Given the description of an element on the screen output the (x, y) to click on. 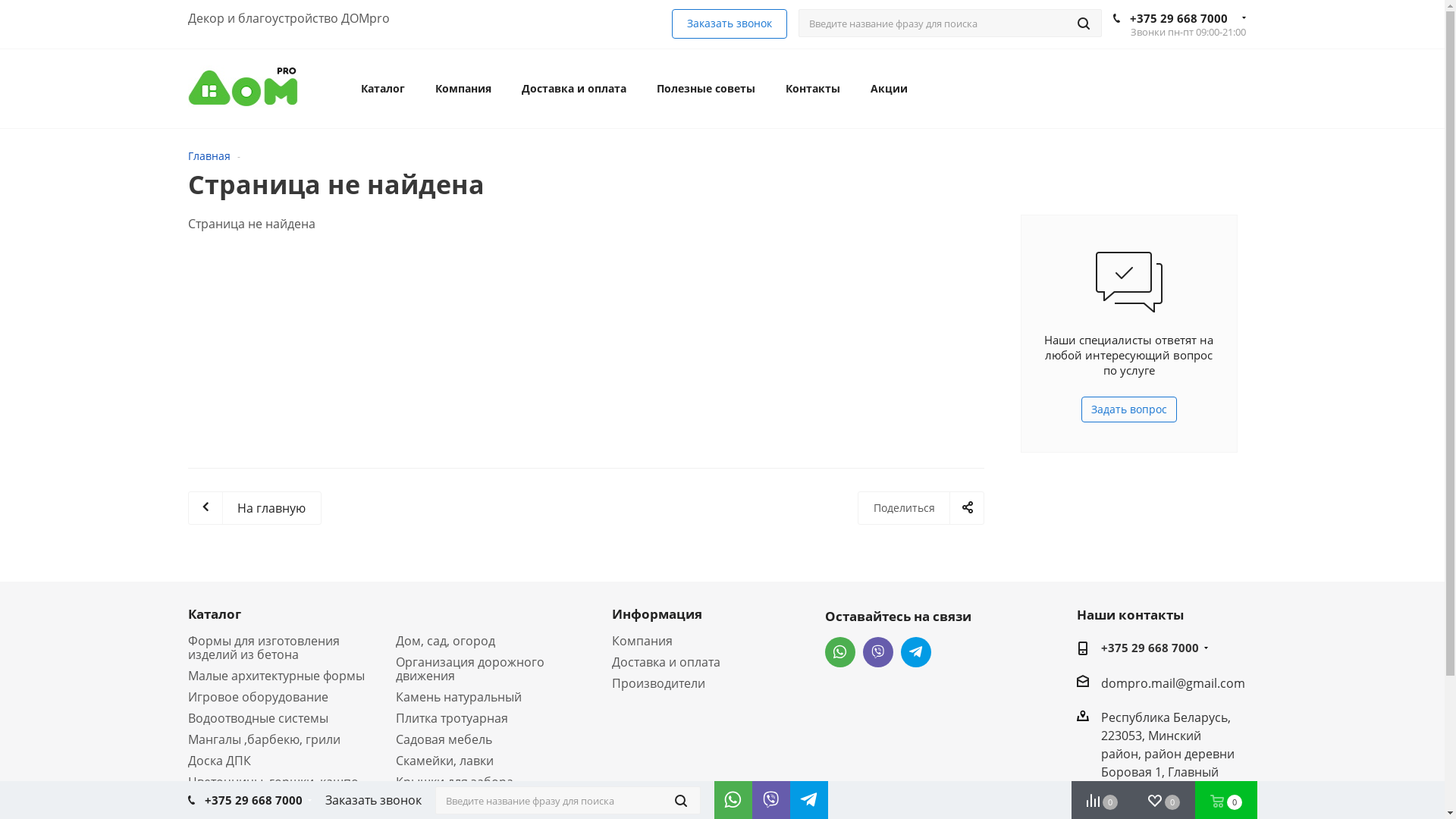
Telegram Element type: text (805, 796)
+375 29 668 7000 Element type: text (253, 799)
+375 29 668 7000 Element type: text (1178, 17)
dompro.mail@gmail.com Element type: text (1173, 682)
Whatsapp Element type: text (729, 796)
+375 29 668 7000 Element type: text (1149, 648)
Viber Element type: text (877, 652)
Viber Element type: text (767, 796)
Whatsapp Element type: text (840, 652)
Telegram Element type: text (915, 652)
